Given the description of an element on the screen output the (x, y) to click on. 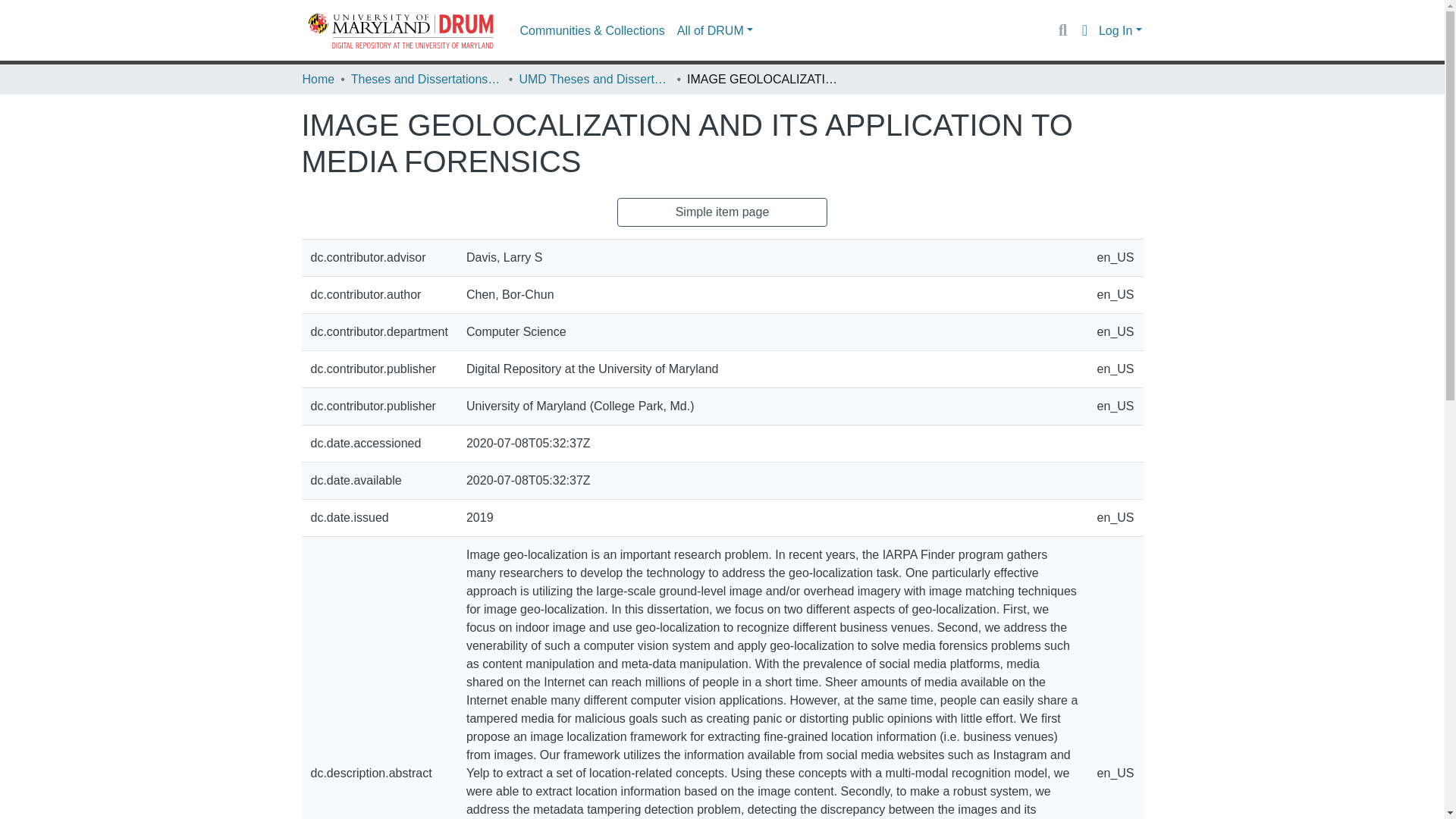
All of DRUM (714, 30)
UMD Theses and Dissertations (593, 79)
Simple item page (722, 212)
Home (317, 79)
Theses and Dissertations from UMD (426, 79)
Search (1061, 30)
Language switch (1084, 30)
Log In (1119, 30)
